Given the description of an element on the screen output the (x, y) to click on. 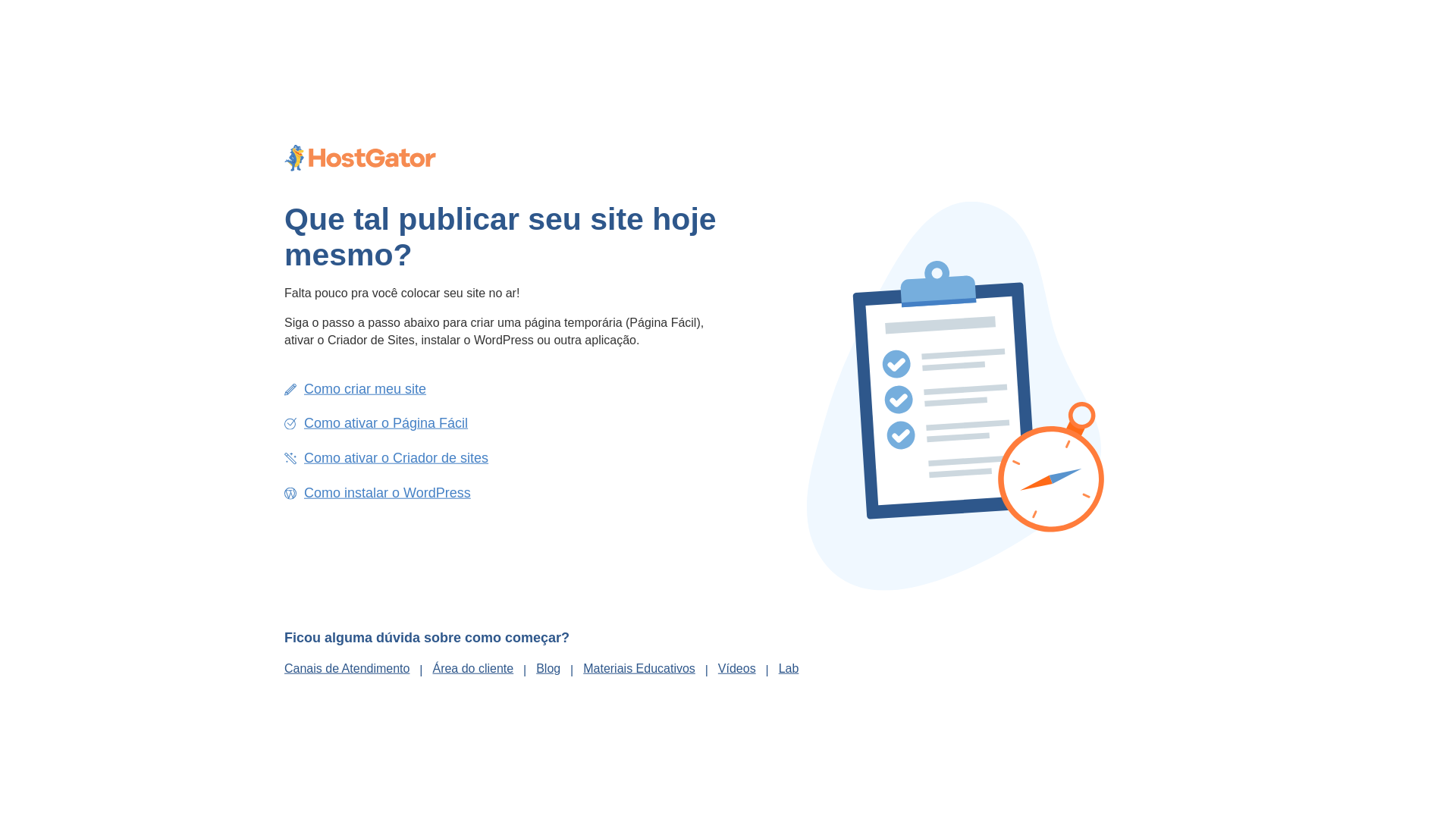
Como ativar o Criador de sites Element type: text (396, 457)
Blog Element type: text (547, 667)
Como criar meu site Element type: text (365, 387)
Materiais Educativos Element type: text (638, 667)
Canais de Atendimento Element type: text (352, 667)
Como instalar o WordPress Element type: text (387, 491)
Lab Element type: text (788, 667)
